Given the description of an element on the screen output the (x, y) to click on. 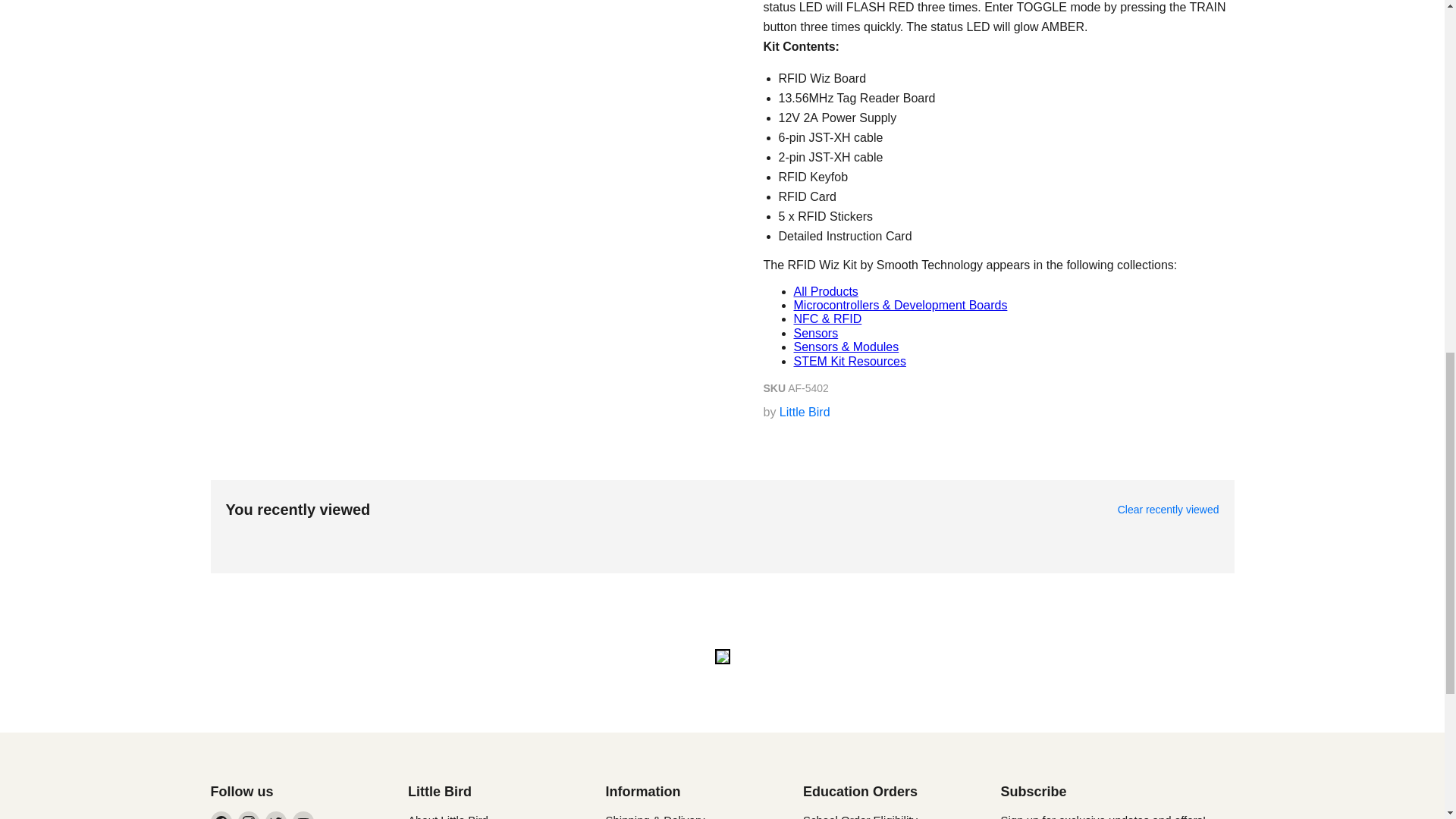
Buy Sensors in Australia (815, 332)
Buy STEM Kit Resources in Australia (849, 360)
Twitter (275, 815)
Instagram (248, 815)
Little Bird (803, 411)
YouTube (303, 815)
Facebook (221, 815)
Buy All Products in Australia (825, 291)
